Given the description of an element on the screen output the (x, y) to click on. 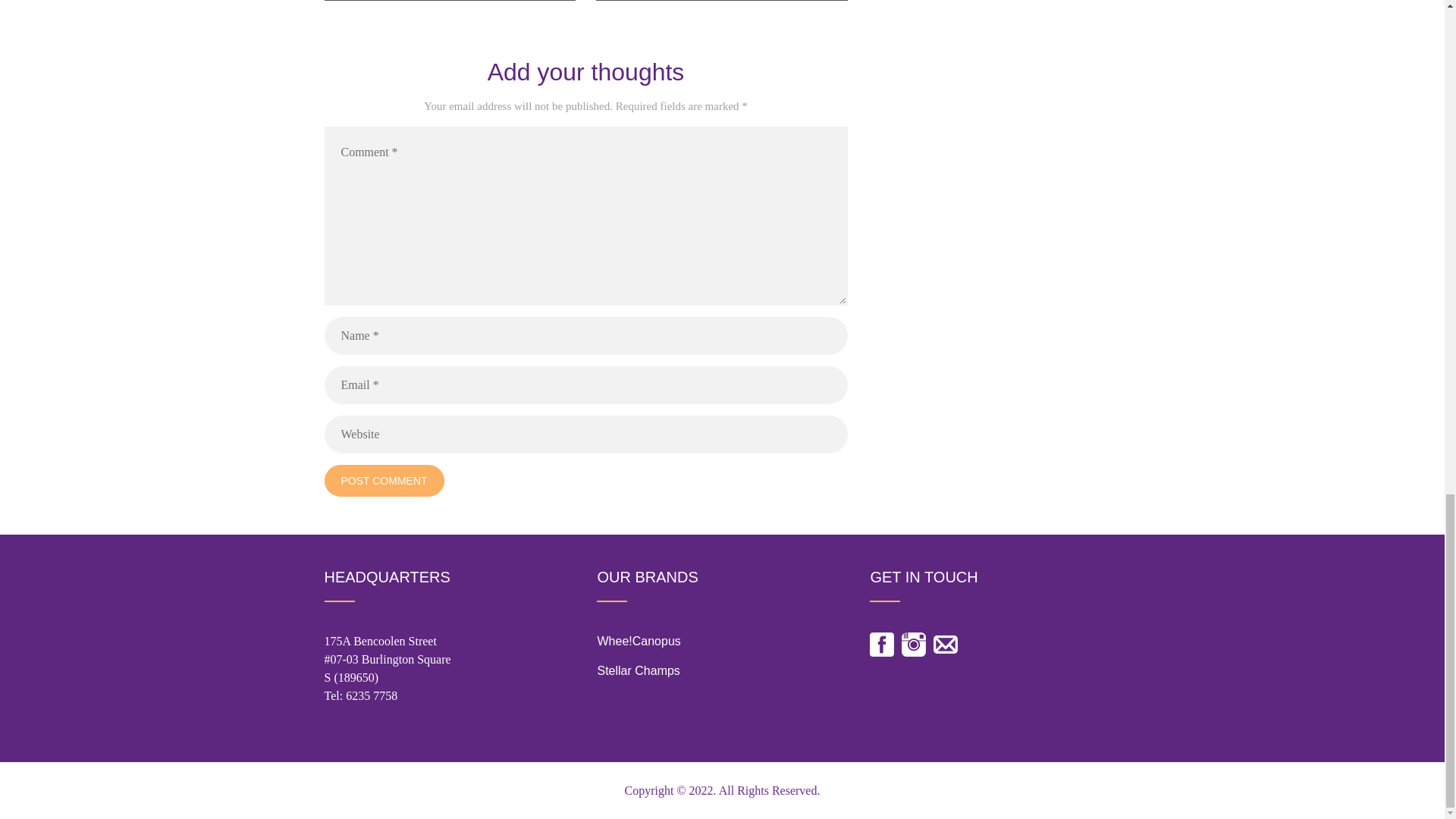
 Instagram (913, 644)
Stellar Champs (637, 670)
Post Comment (384, 480)
Whee!Canopus (637, 640)
 Email (945, 644)
 Facebook (881, 644)
Post Comment (384, 480)
